Given the description of an element on the screen output the (x, y) to click on. 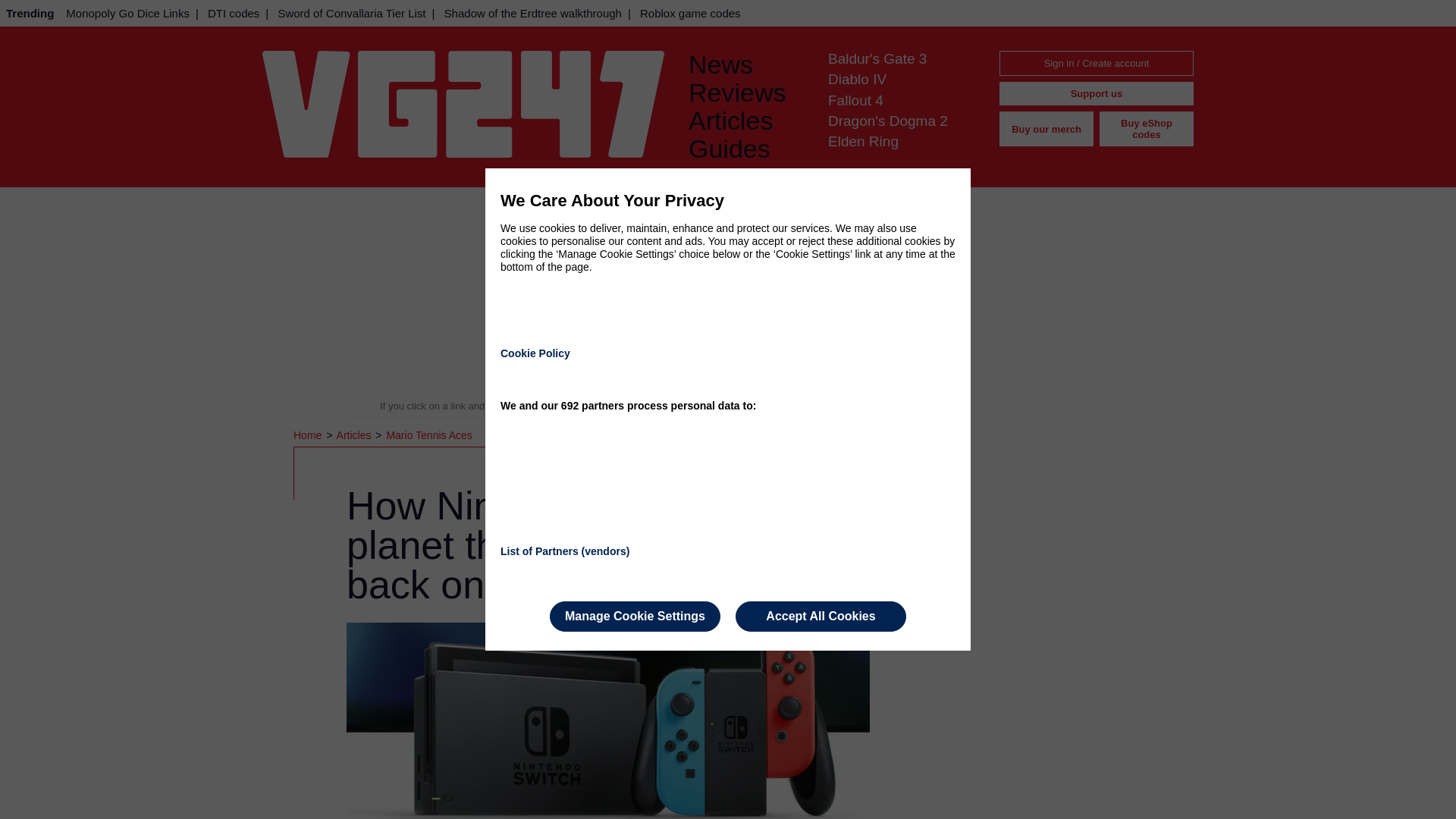
Baldur's Gate 3 (877, 58)
Diablo IV (857, 78)
Read our editorial policy (781, 405)
Reviews (745, 92)
Buy eShop codes (1146, 128)
Mario Tennis Aces (428, 435)
Guides (745, 148)
DTI codes (233, 13)
Fallout 4 (855, 100)
Articles (355, 435)
